Given the description of an element on the screen output the (x, y) to click on. 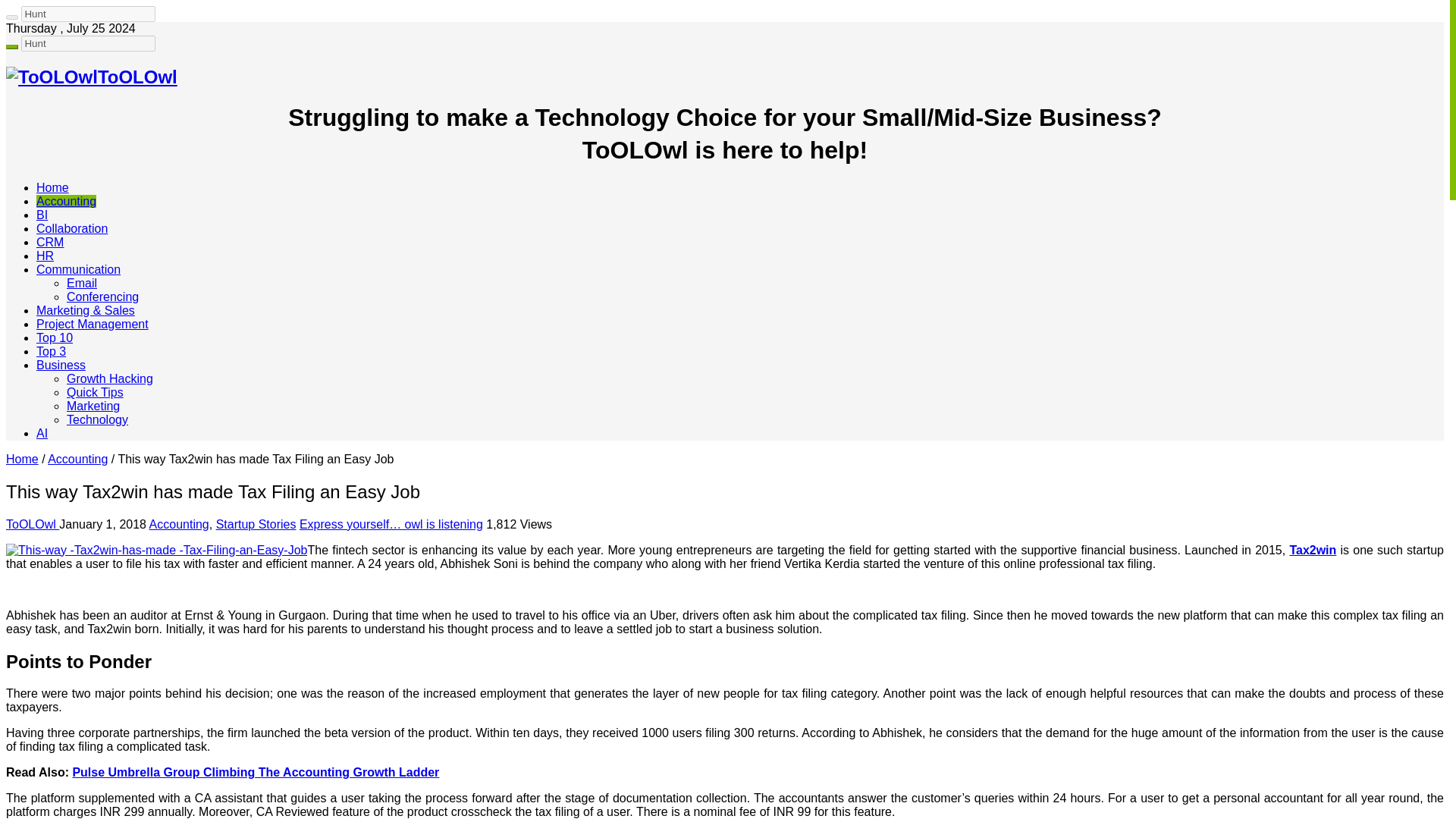
ToOLOwl (91, 76)
Conferencing (102, 296)
HR (44, 255)
Growth Hacking (109, 378)
Hunt (88, 43)
Startup Stories (256, 523)
Hunt (88, 43)
Accounting (77, 459)
Quick Tips (94, 391)
Accounting (66, 201)
Home (52, 187)
Hunt (88, 43)
Email (81, 282)
Home (22, 459)
Project Management (92, 323)
